Given the description of an element on the screen output the (x, y) to click on. 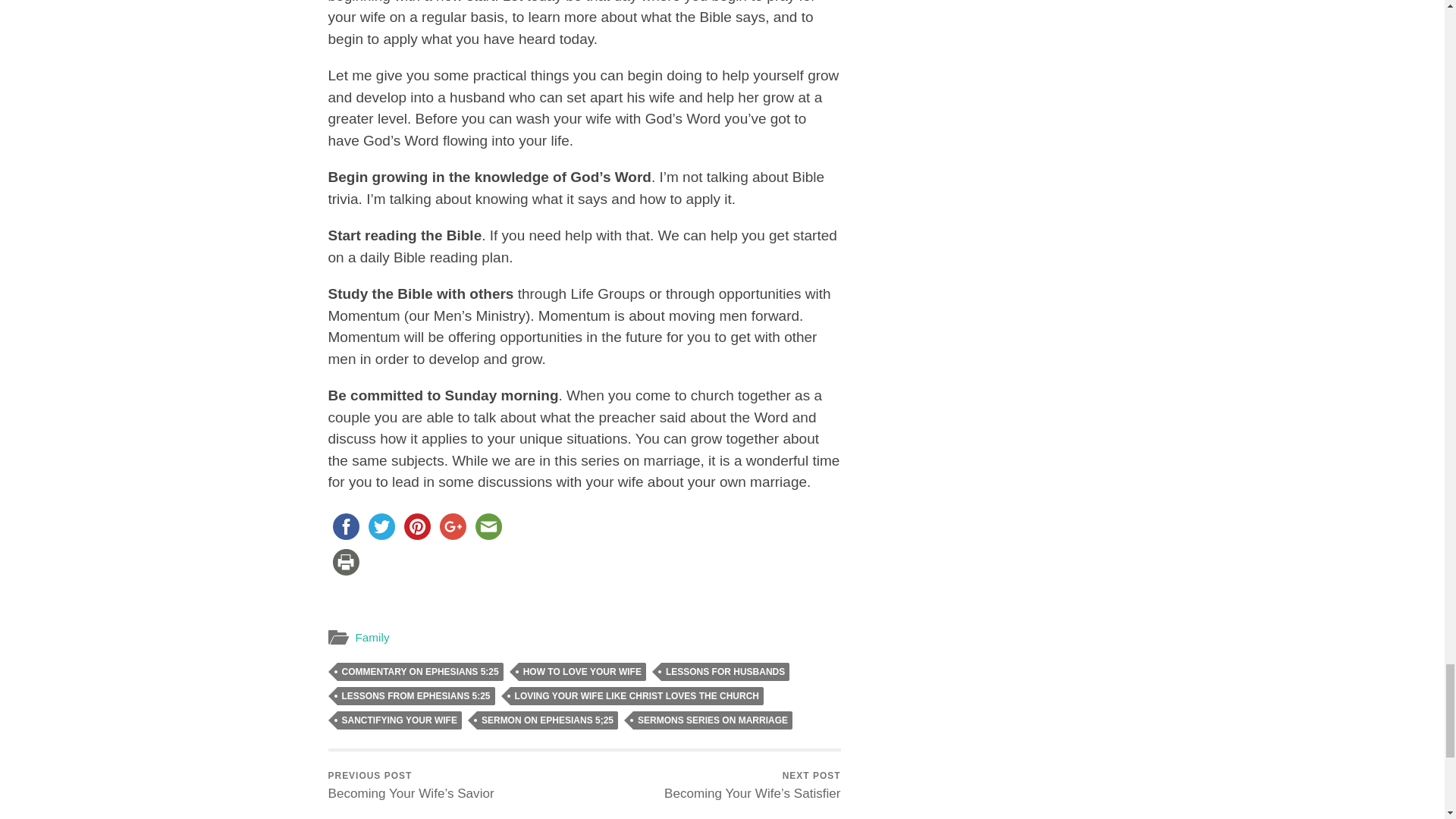
print (344, 561)
twitter (381, 526)
google (452, 526)
email (487, 526)
facebook (344, 526)
pinterest (415, 526)
